Given the description of an element on the screen output the (x, y) to click on. 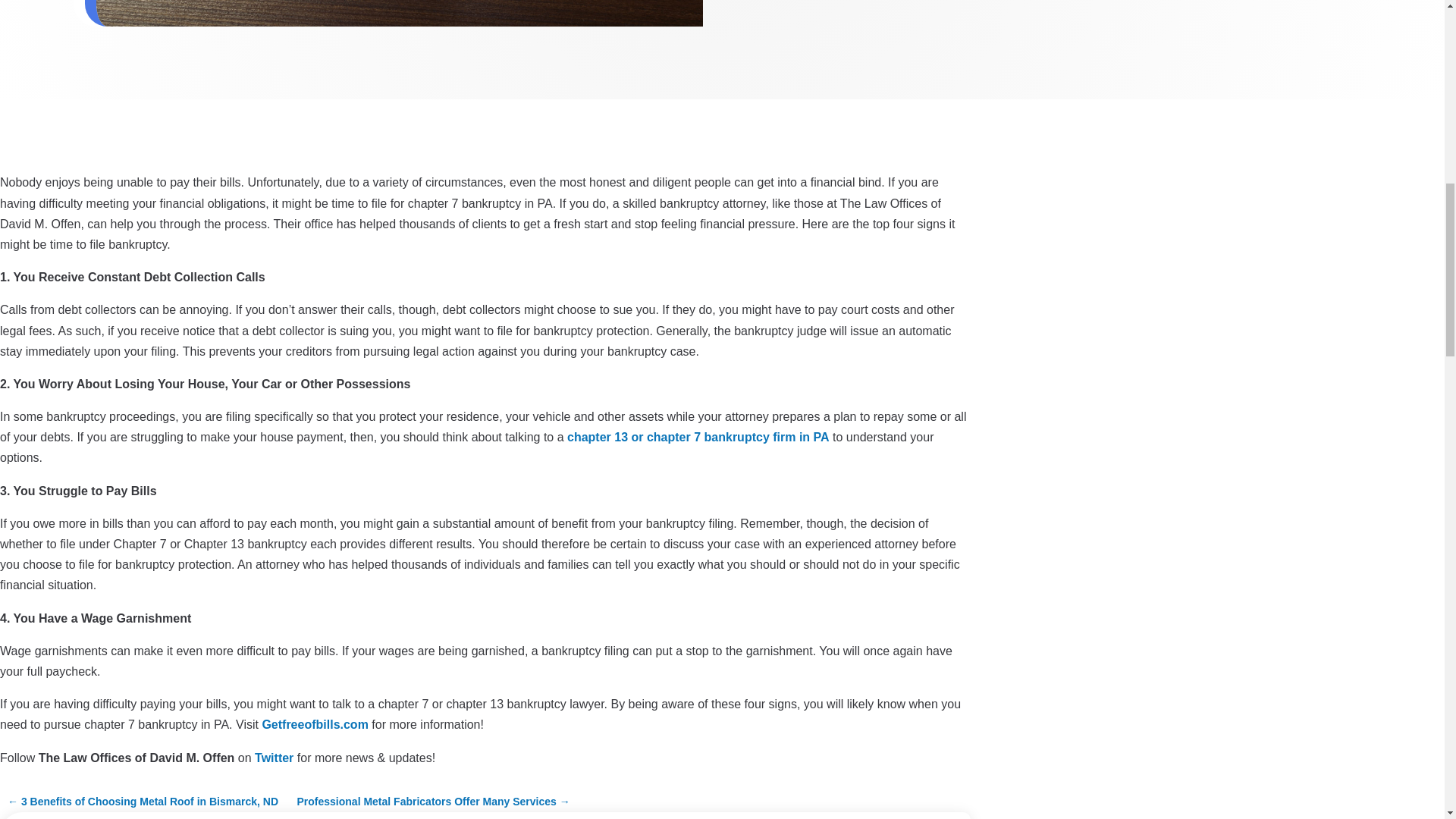
chapter 13 or chapter 7 bankruptcy firm in PA (698, 436)
Twitter (274, 757)
Getfreeofbills.com (315, 724)
